Given the description of an element on the screen output the (x, y) to click on. 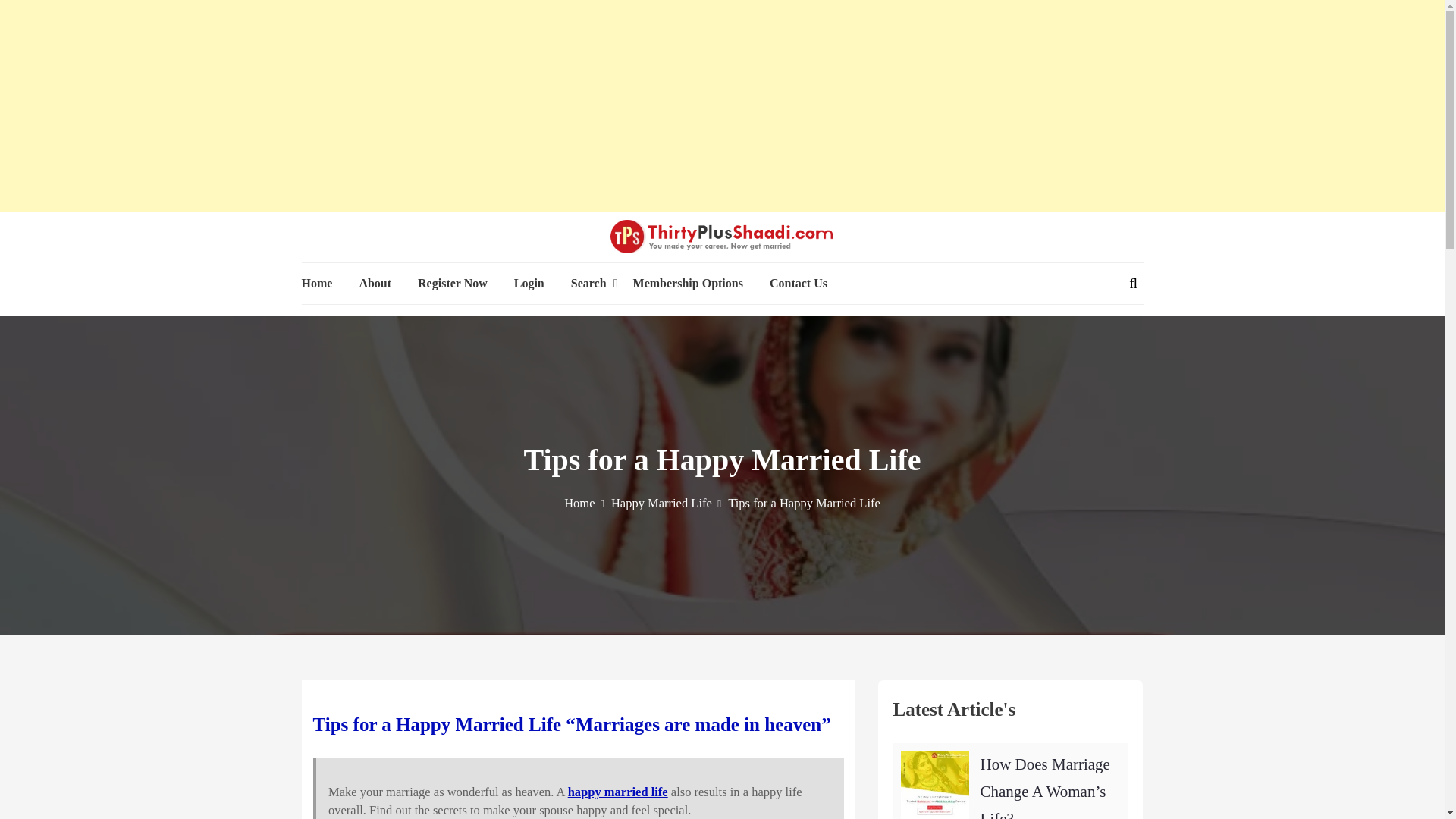
Home (317, 282)
Contact Us (798, 282)
Search (588, 282)
Home (584, 503)
Happy Married Life (665, 503)
happy married life (617, 791)
Membership Options (687, 282)
About (374, 282)
Login (528, 282)
Register Now (452, 282)
